Given the description of an element on the screen output the (x, y) to click on. 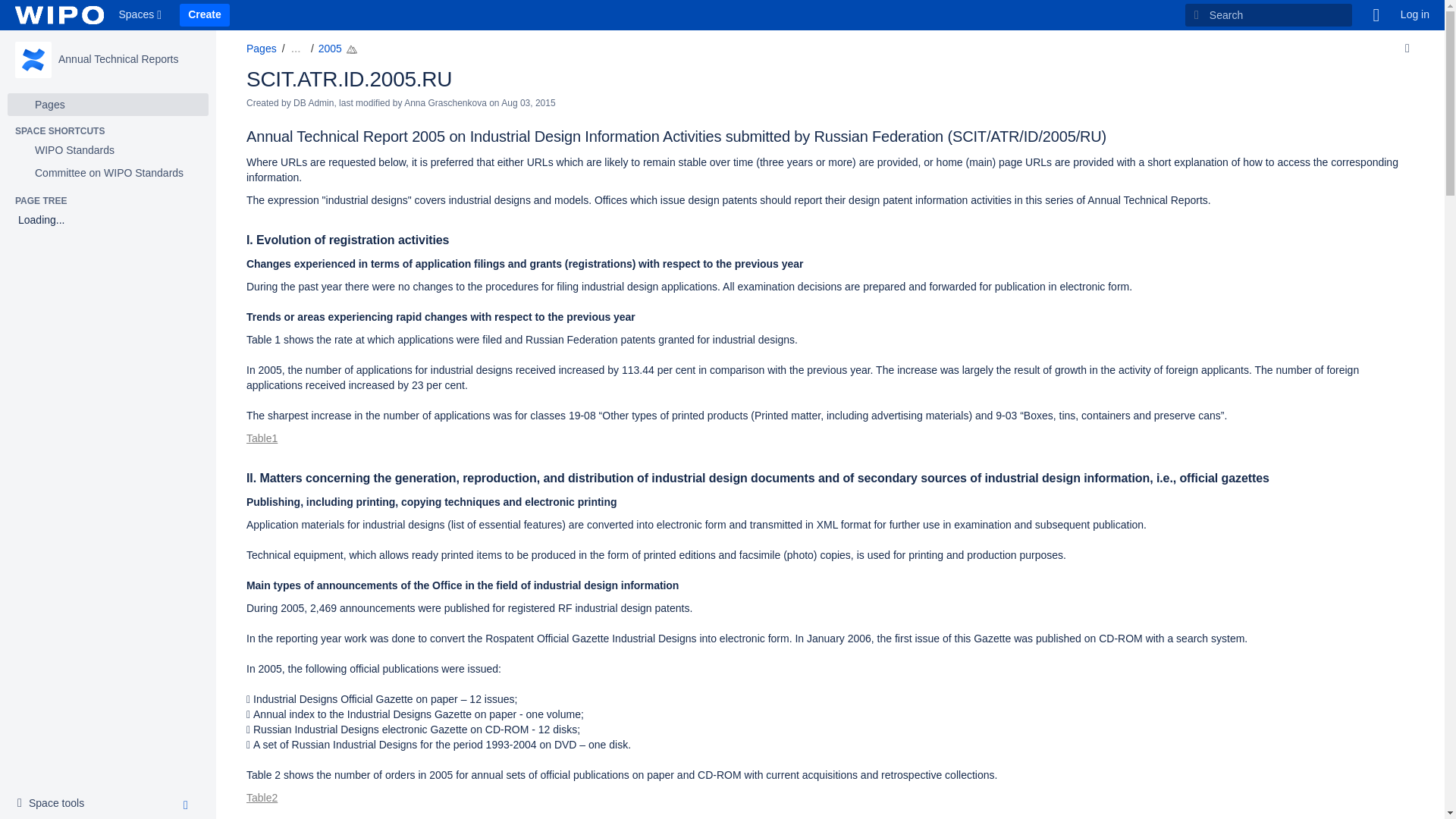
Annual Technical Reports (118, 59)
Pages (107, 104)
Create from template (54, 803)
Create (204, 15)
Committee on WIPO Standards (204, 15)
Spaces (107, 172)
Annual Technical Reports (140, 15)
Help (32, 59)
WIPO Standards (1376, 15)
